Given the description of an element on the screen output the (x, y) to click on. 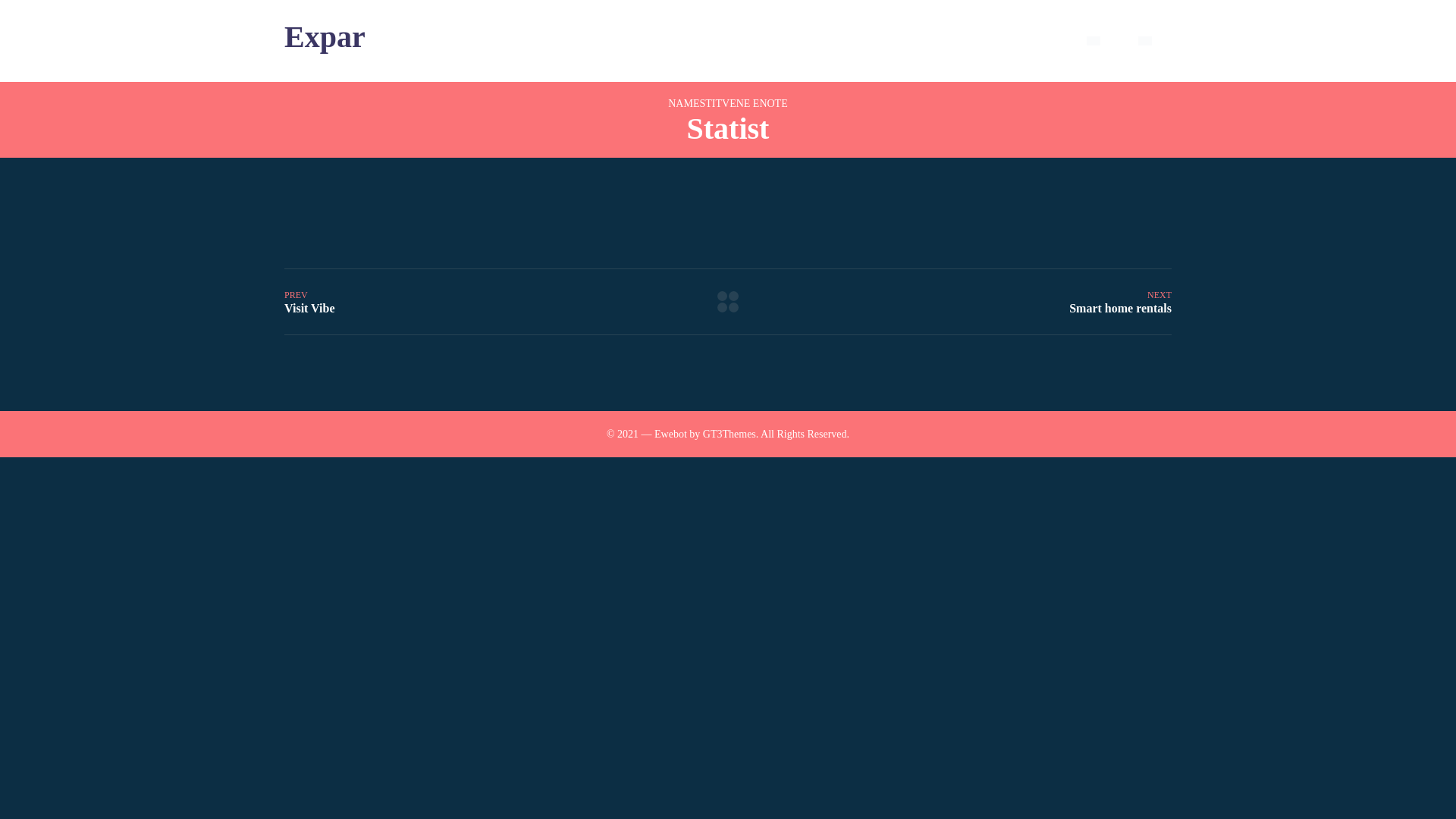
PREV (308, 301)
NEXT (1120, 301)
Slovenian (1144, 40)
Expar (324, 36)
English (1093, 40)
